Given the description of an element on the screen output the (x, y) to click on. 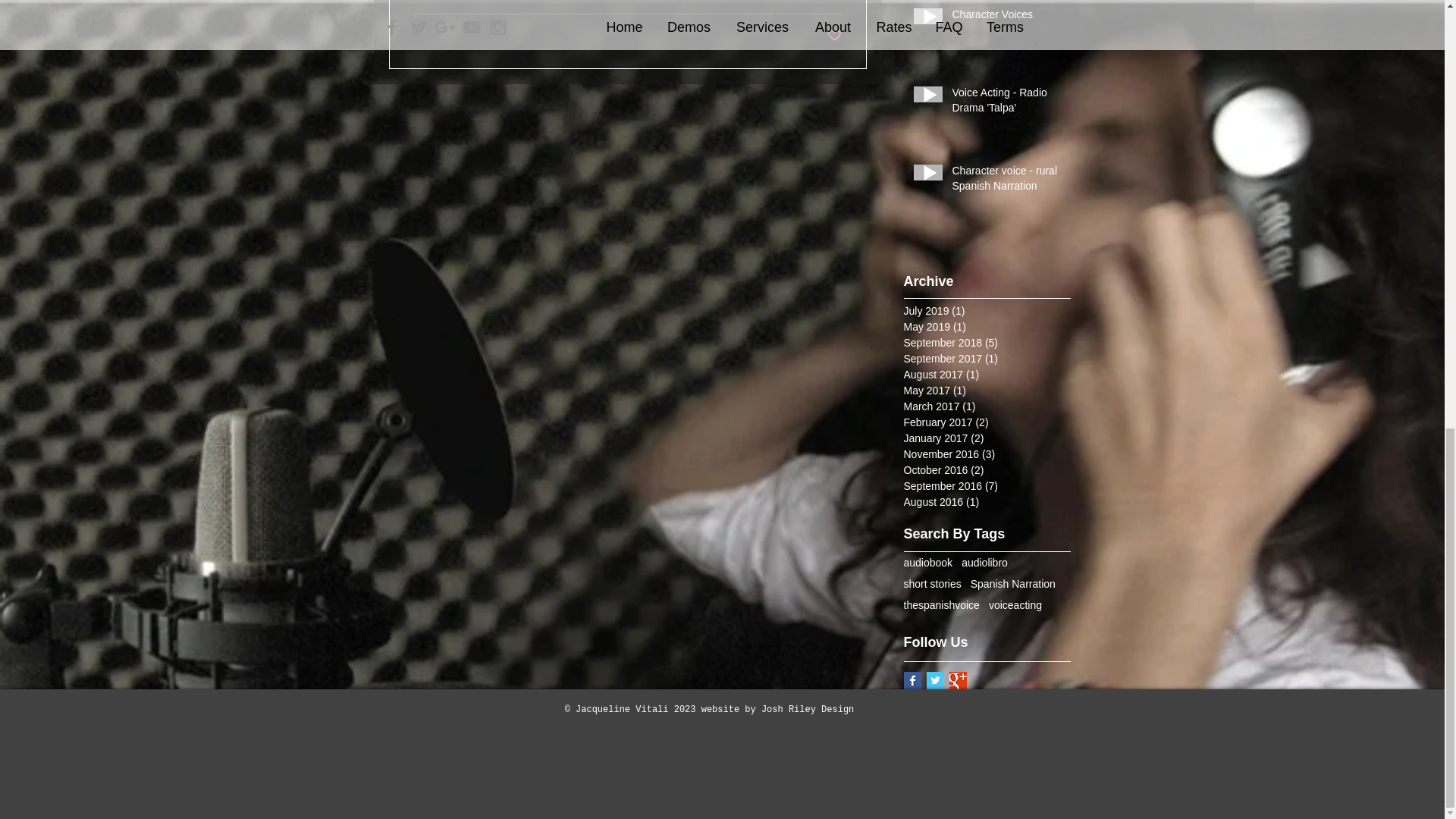
Post not marked as liked (834, 35)
Voice Acting - Radio Drama 'Talpa' (1006, 103)
Character voice - rural Spanish Narration (1006, 181)
Character Voices (1006, 17)
